Given the description of an element on the screen output the (x, y) to click on. 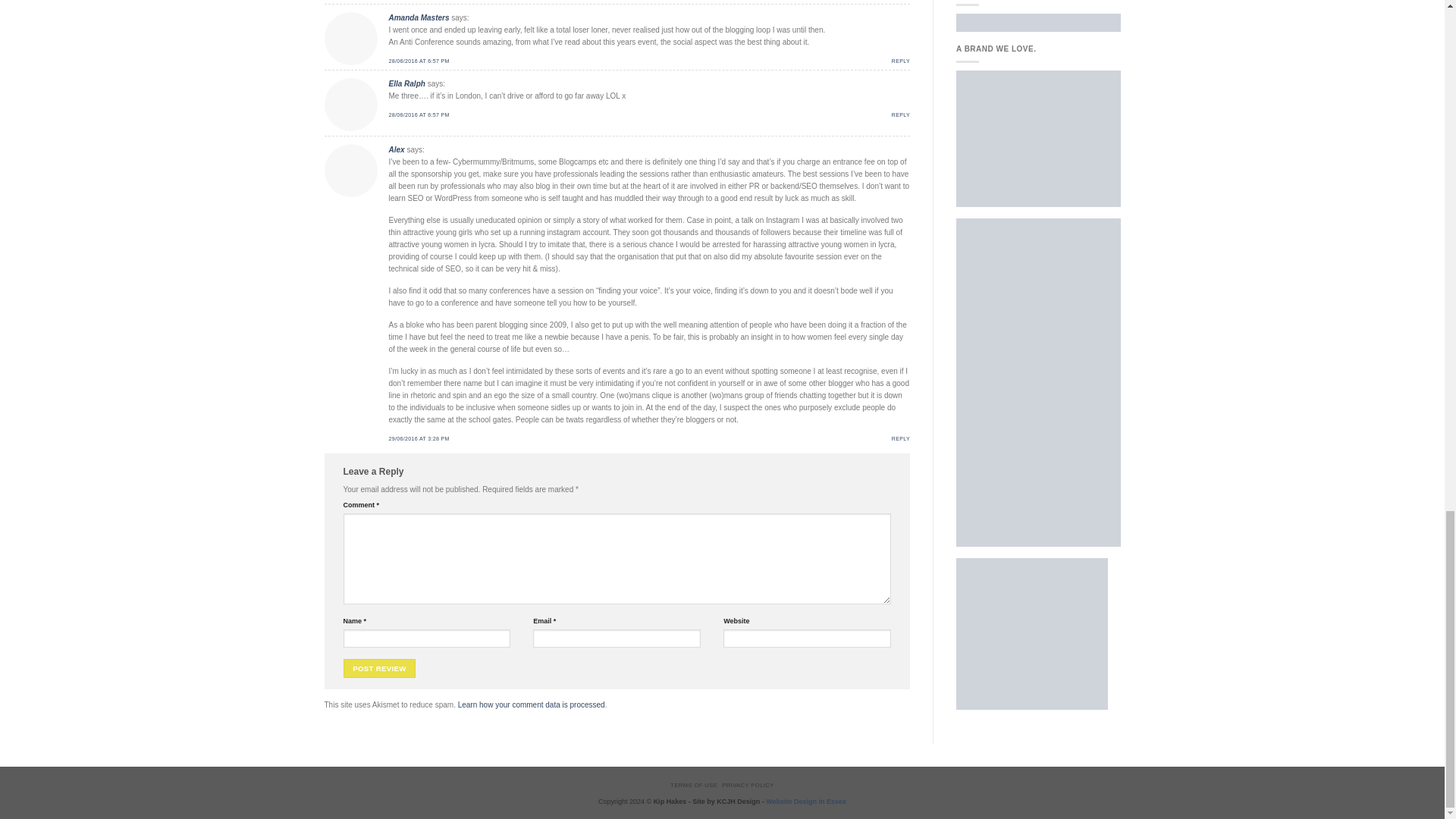
Amanda Masters (418, 17)
REPLY (900, 60)
Post Review (378, 668)
